Given the description of an element on the screen output the (x, y) to click on. 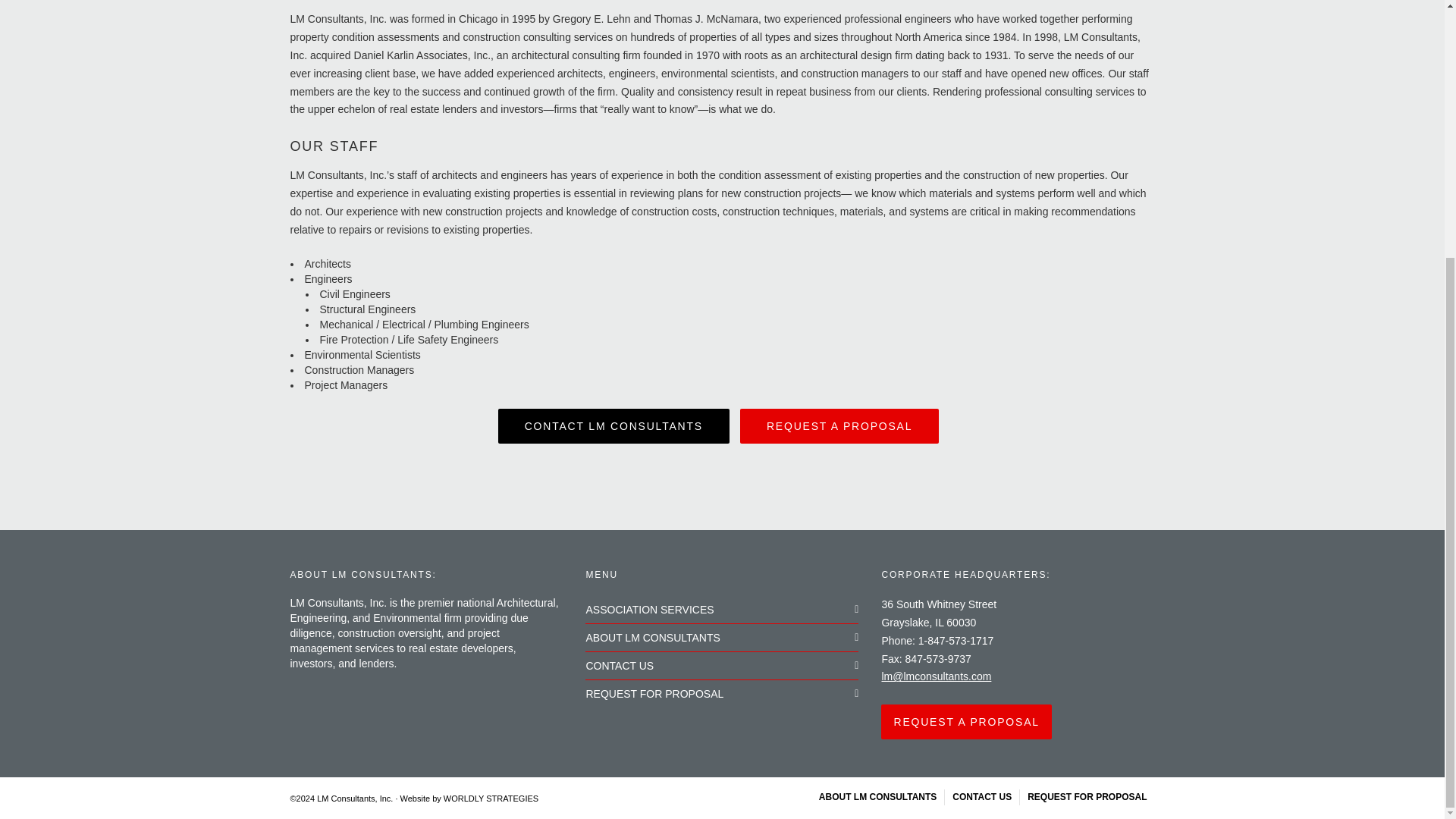
CONTACT US (981, 797)
ABOUT LM CONSULTANTS (722, 637)
ASSOCIATION SERVICES (722, 609)
REQUEST A PROPOSAL (839, 425)
WORLDLY STRATEGIES (491, 798)
CONTACT LM CONSULTANTS (613, 425)
REQUEST FOR PROPOSAL (722, 693)
REQUEST FOR PROPOSAL (1087, 797)
CONTACT US (722, 665)
REQUEST A PROPOSAL (965, 721)
